Given the description of an element on the screen output the (x, y) to click on. 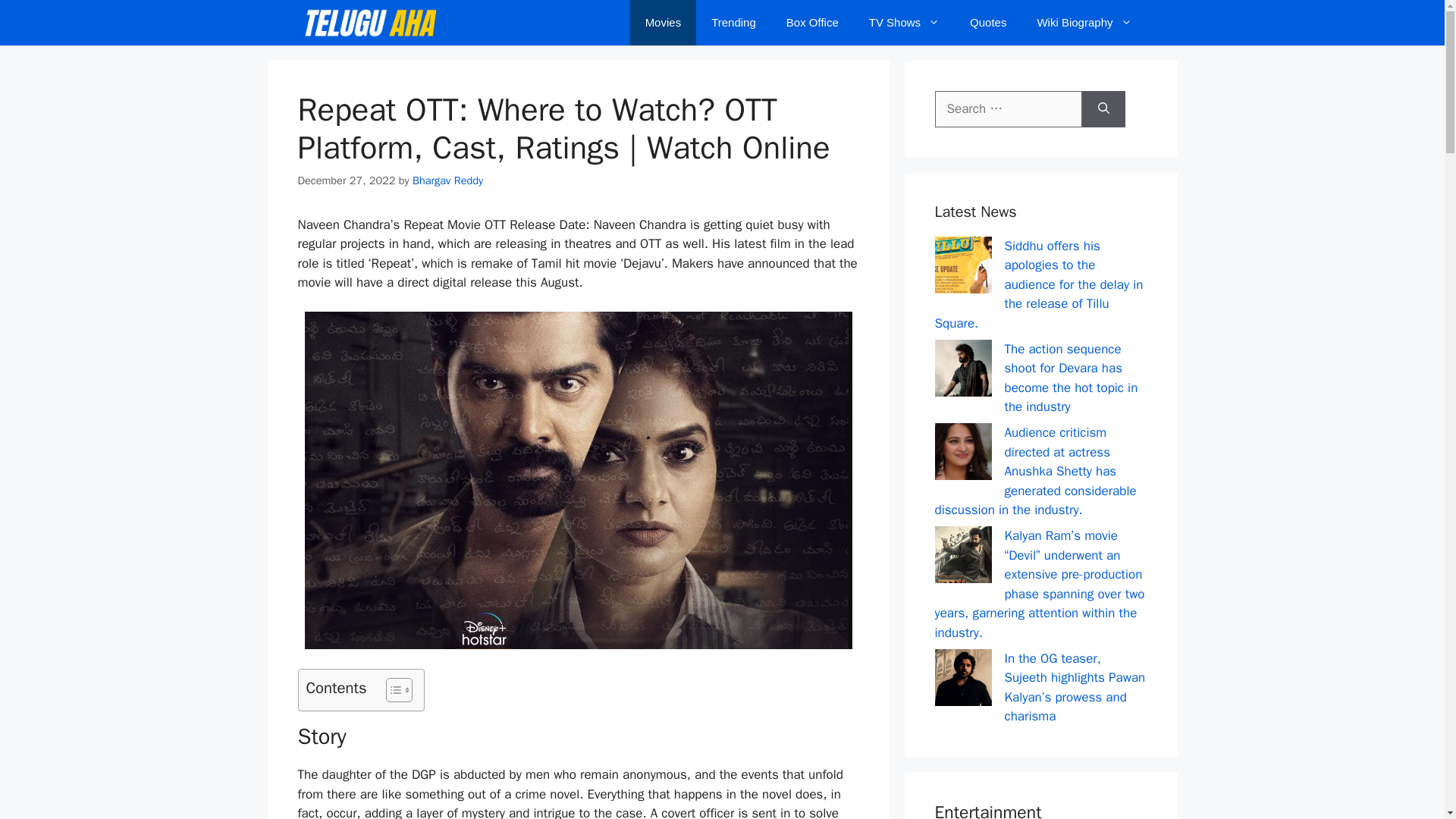
Bhargav Reddy (447, 180)
TV Shows (904, 22)
Quotes (988, 22)
TeluguAha (369, 22)
Trending (733, 22)
Wiki Biography (1084, 22)
Box Office (812, 22)
Movies (663, 22)
View all posts by Bhargav Reddy (447, 180)
